Given the description of an element on the screen output the (x, y) to click on. 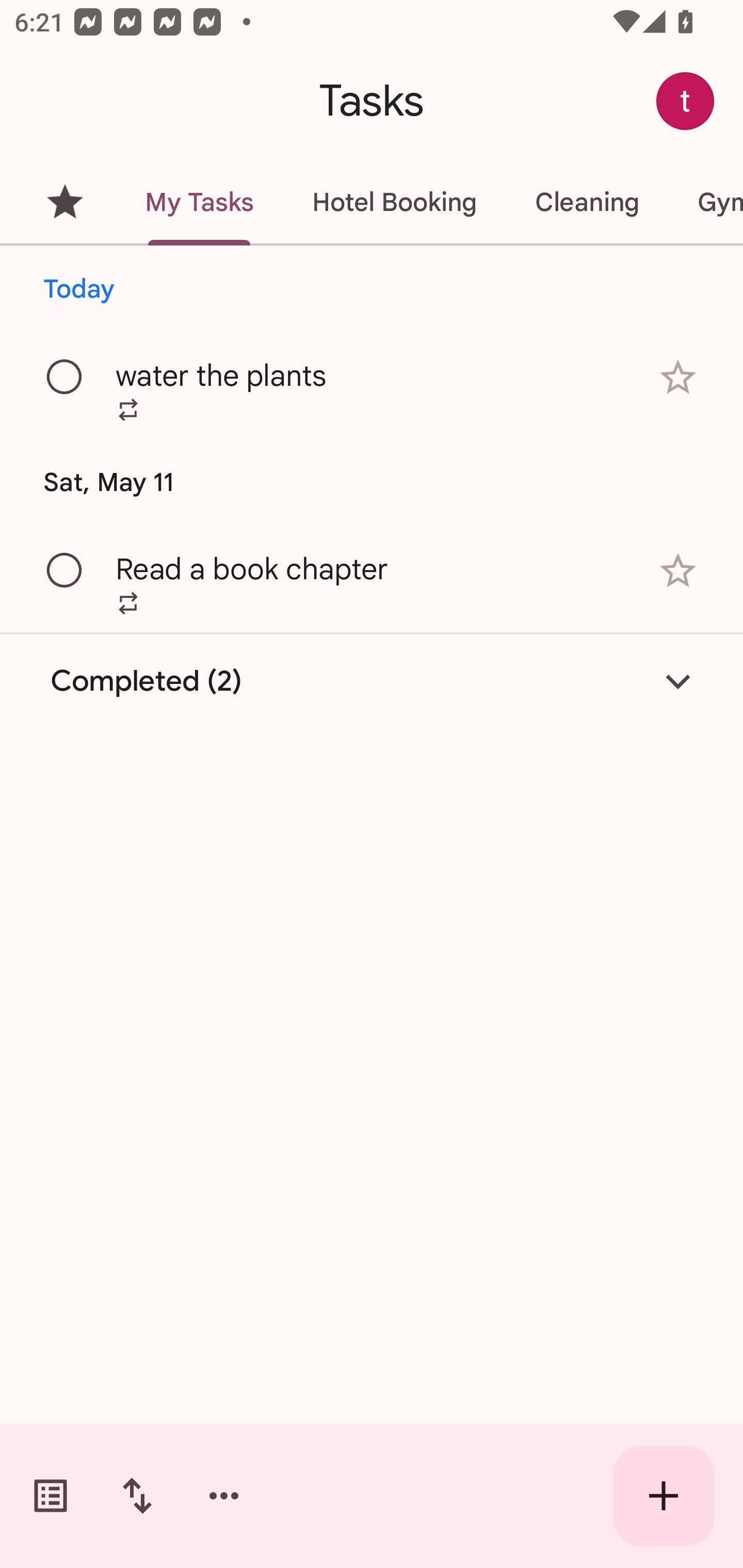
Starred (64, 202)
Hotel Booking (394, 202)
Cleaning (586, 202)
Add star (677, 376)
Mark as complete (64, 377)
Add star (677, 571)
Mark as complete (64, 570)
Completed (2) (371, 681)
Switch task lists (50, 1495)
Create new task (663, 1495)
Change sort order (136, 1495)
More options (223, 1495)
